Given the description of an element on the screen output the (x, y) to click on. 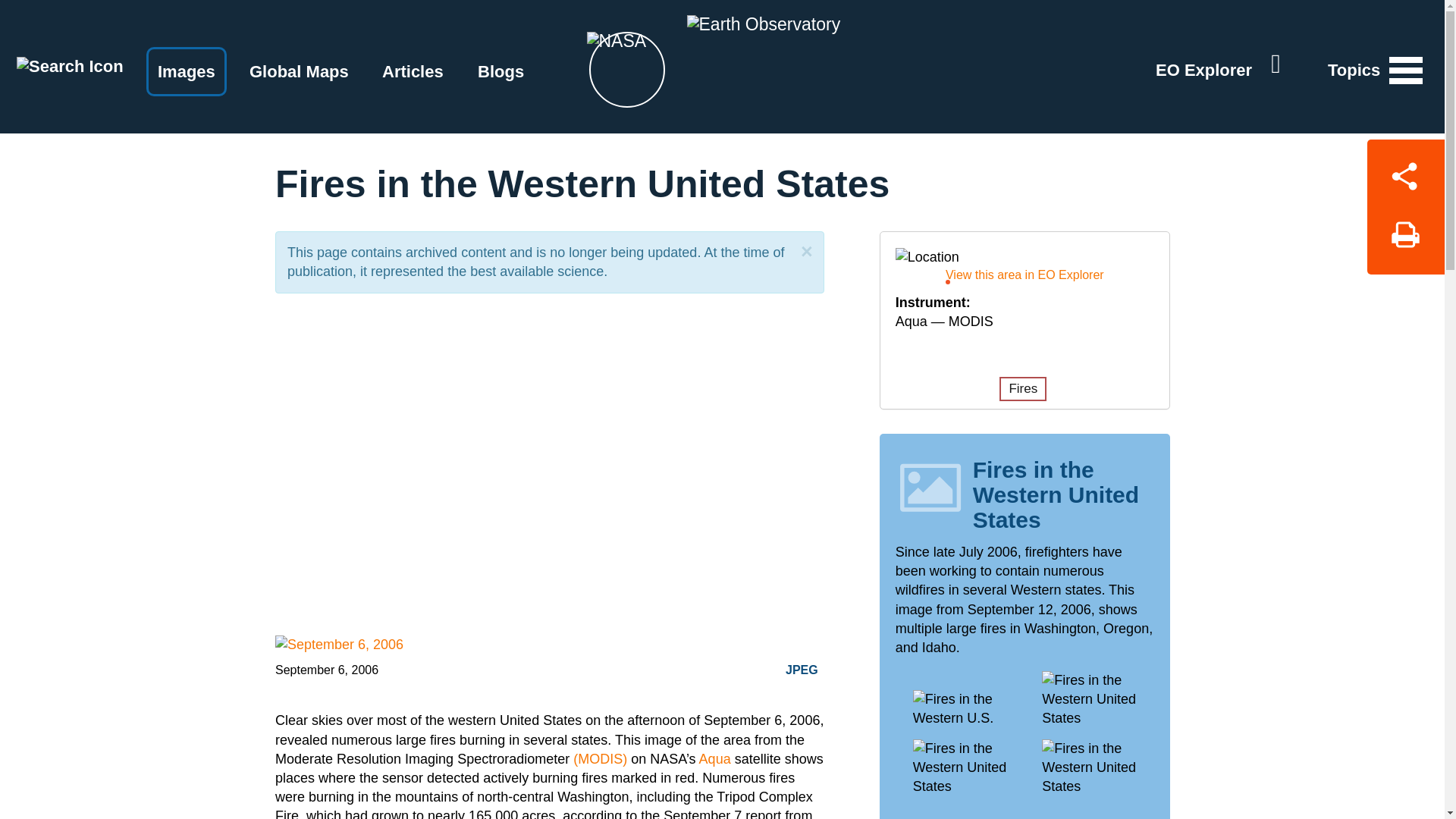
Print (1405, 240)
Search (70, 65)
Share (1405, 173)
